Given the description of an element on the screen output the (x, y) to click on. 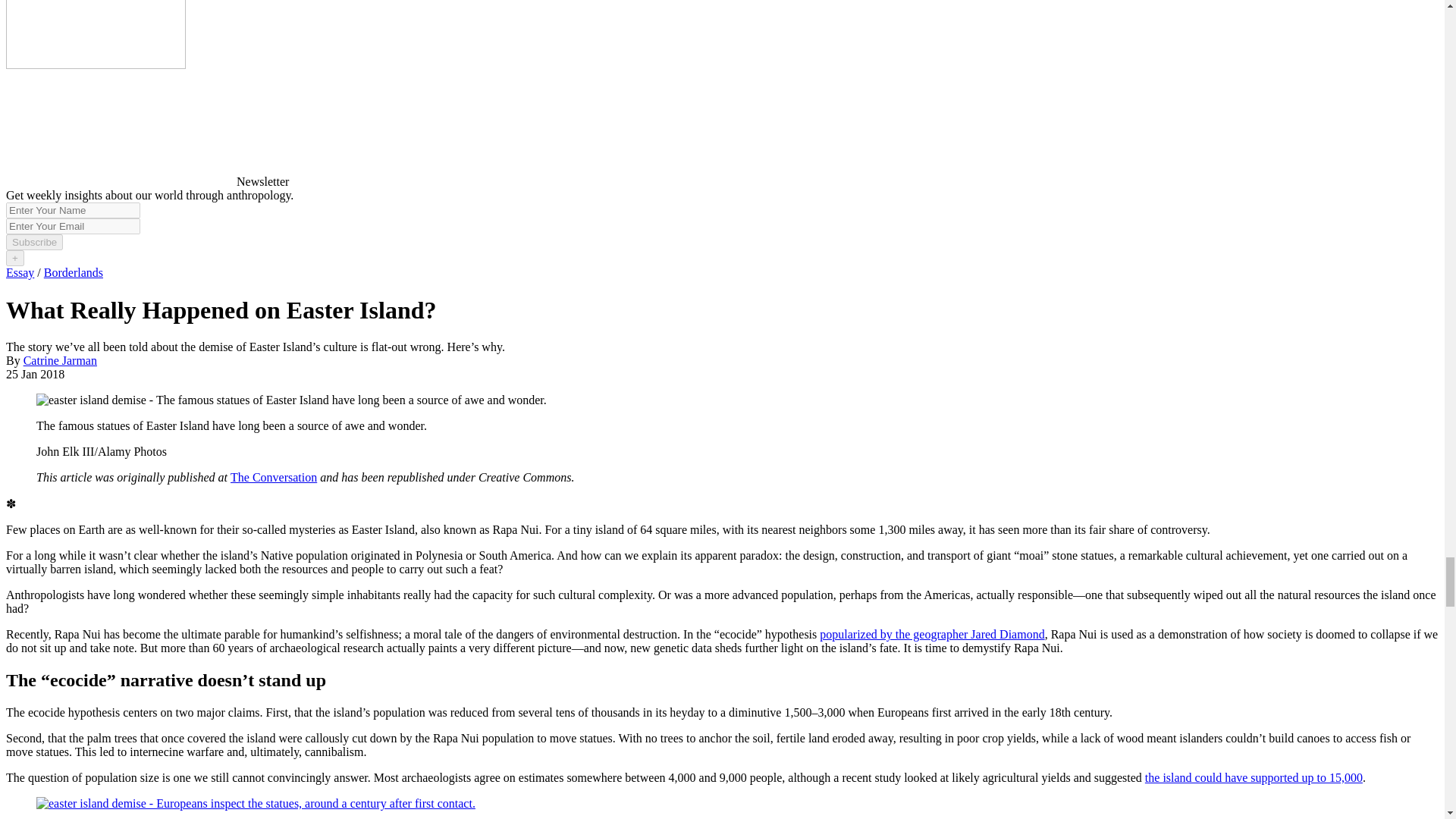
email (72, 226)
Name (72, 210)
